Given the description of an element on the screen output the (x, y) to click on. 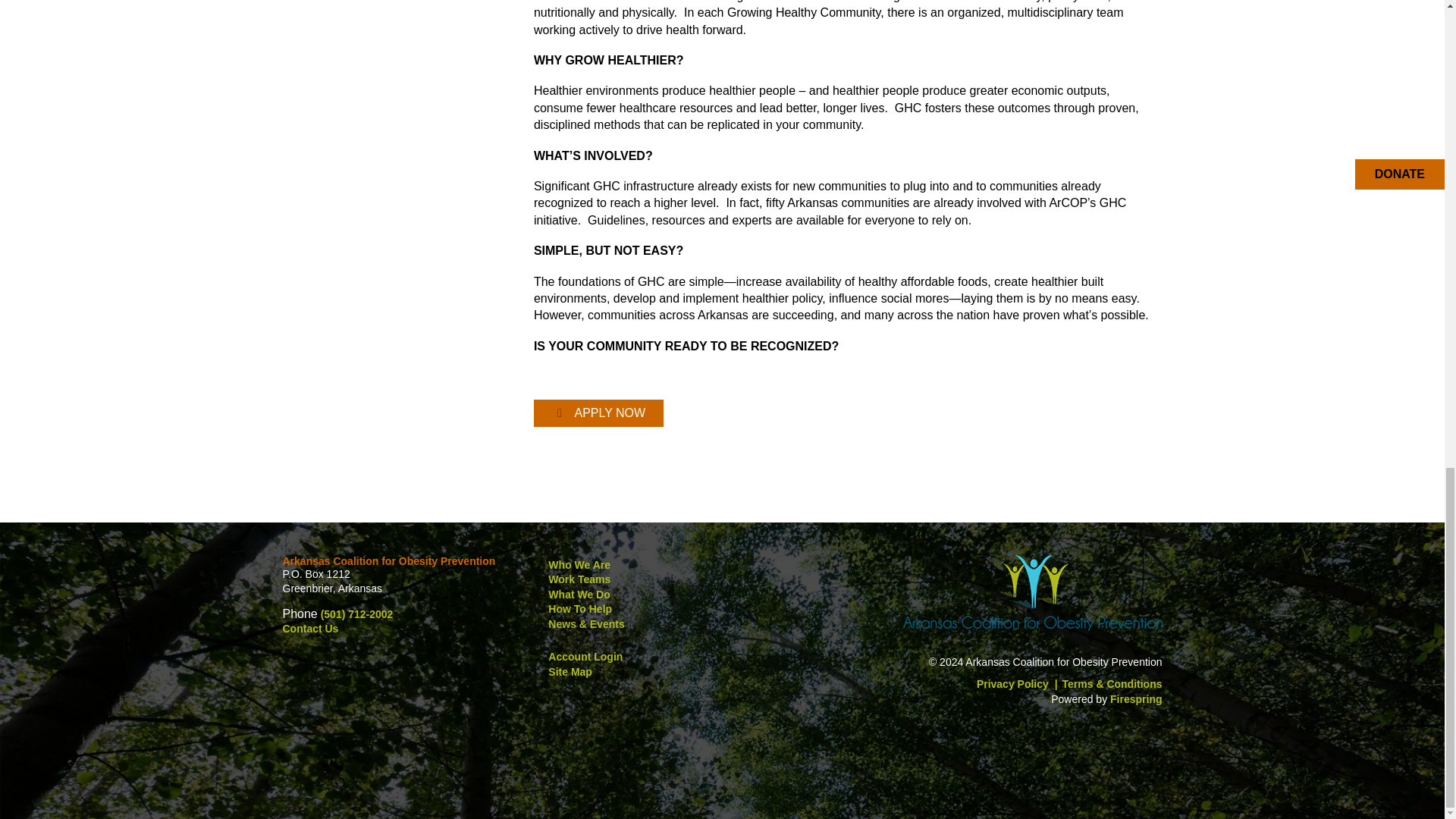
logo (1031, 591)
